Given the description of an element on the screen output the (x, y) to click on. 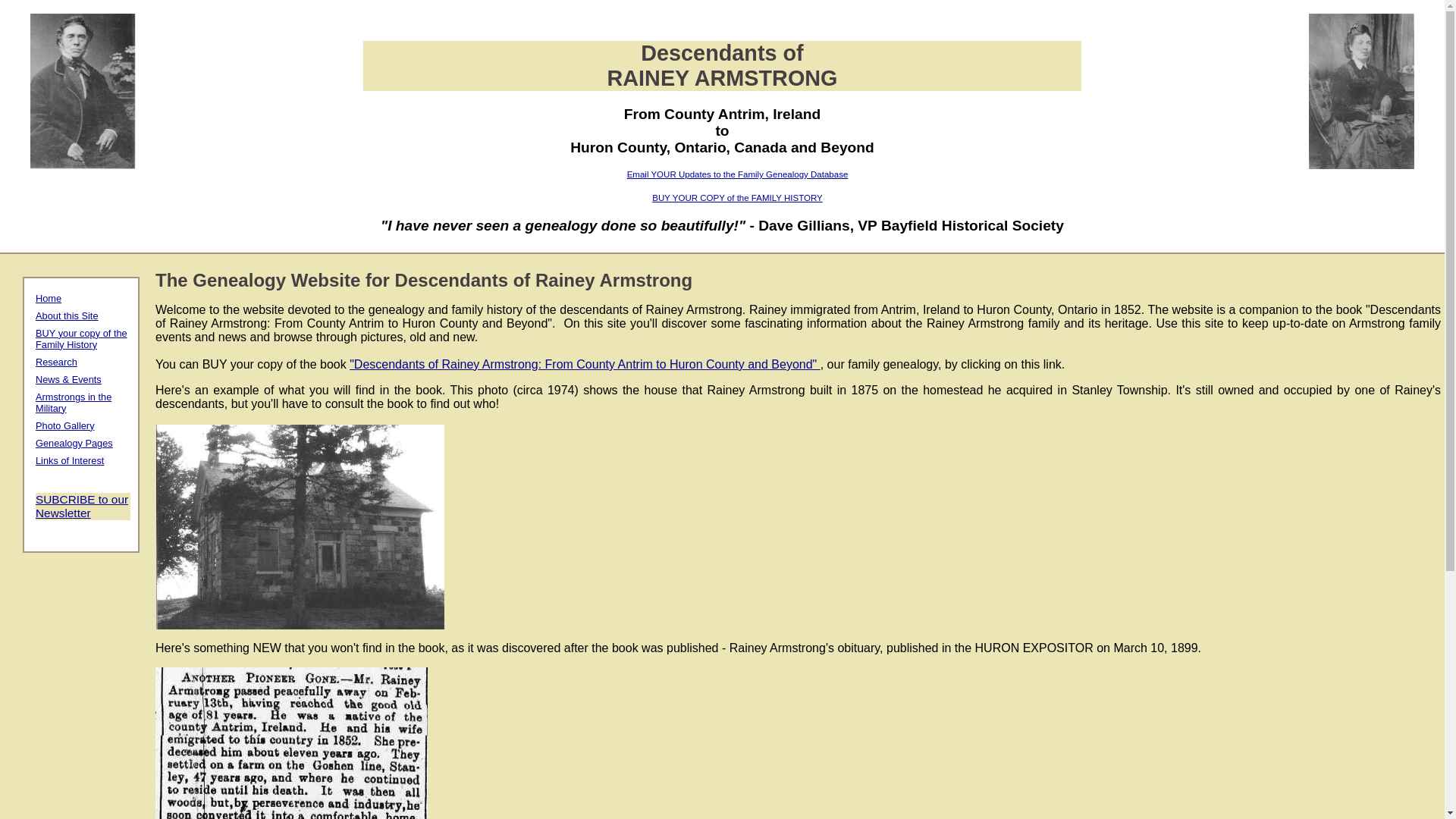
Research Element type: text (56, 361)
Genealogy Pages Element type: text (73, 442)
Home Element type: text (48, 298)
News & Events Element type: text (68, 379)
Links of Interest Element type: text (69, 460)
About this Site Element type: text (66, 315)
Armstrongs in the Military Element type: text (73, 402)
BUY your copy of the Family History Element type: text (81, 338)
Email YOUR Updates to the Family Genealogy Database Element type: text (737, 173)
BUY YOUR COPY of the FAMILY HISTORY Element type: text (737, 197)
SUBCRIBE to our Newsletter Element type: text (81, 505)
Photo Gallery Element type: text (64, 425)
